Given the description of an element on the screen output the (x, y) to click on. 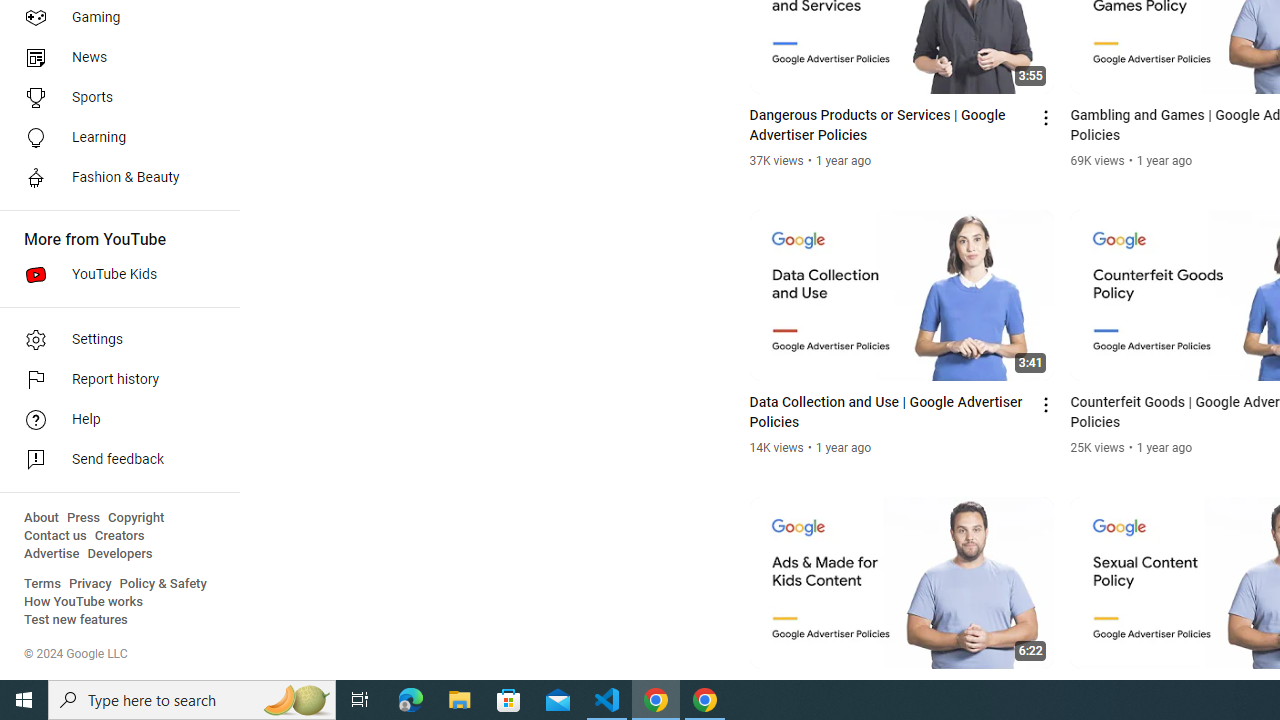
Report history (113, 380)
Settings (113, 339)
Test new features (76, 620)
Creators (118, 536)
Developers (120, 554)
Privacy (89, 584)
Advertise (51, 554)
News (113, 57)
